Given the description of an element on the screen output the (x, y) to click on. 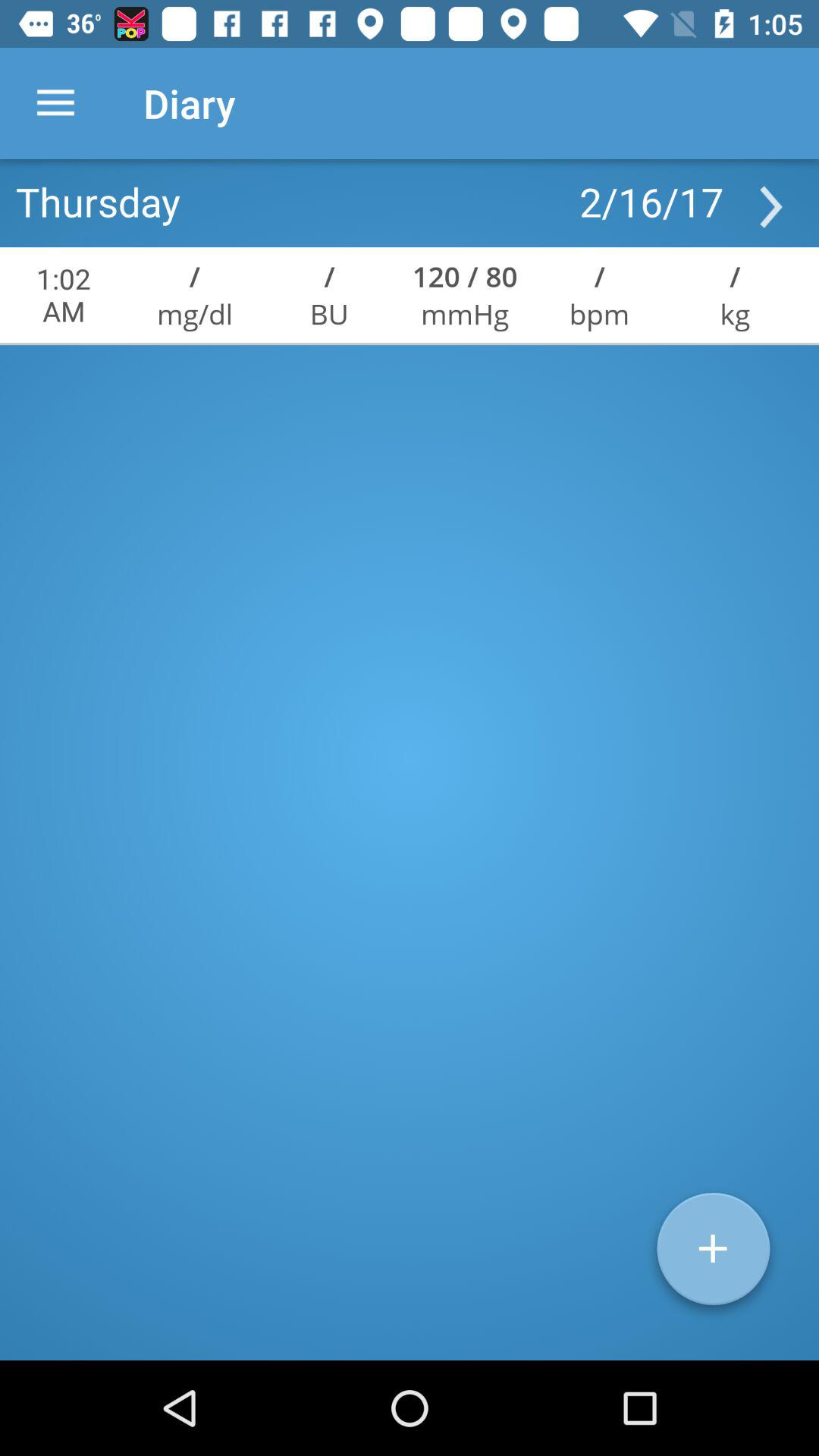
tap the thursday item (97, 201)
